Given the description of an element on the screen output the (x, y) to click on. 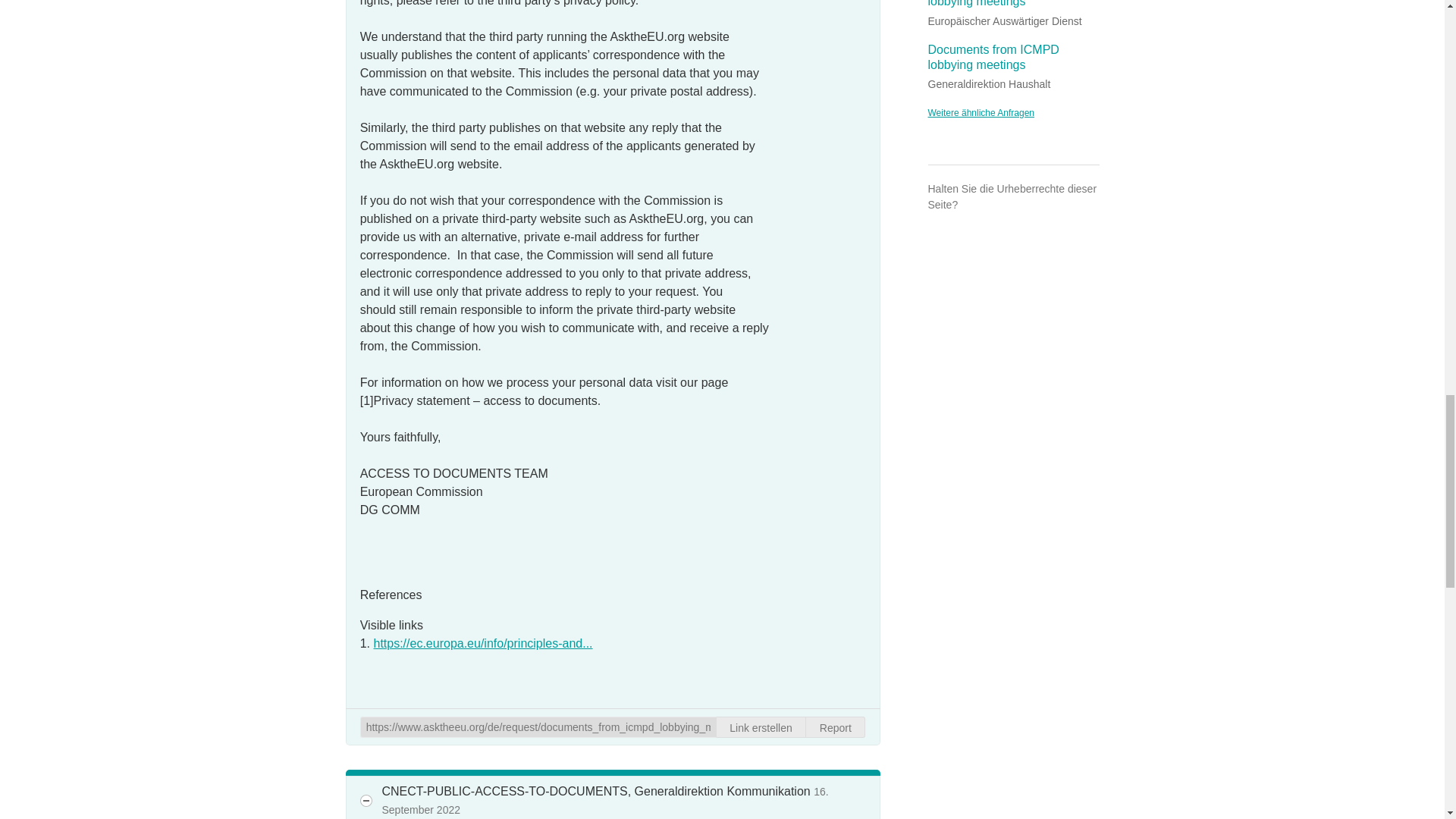
Link erstellen (761, 726)
